Given the description of an element on the screen output the (x, y) to click on. 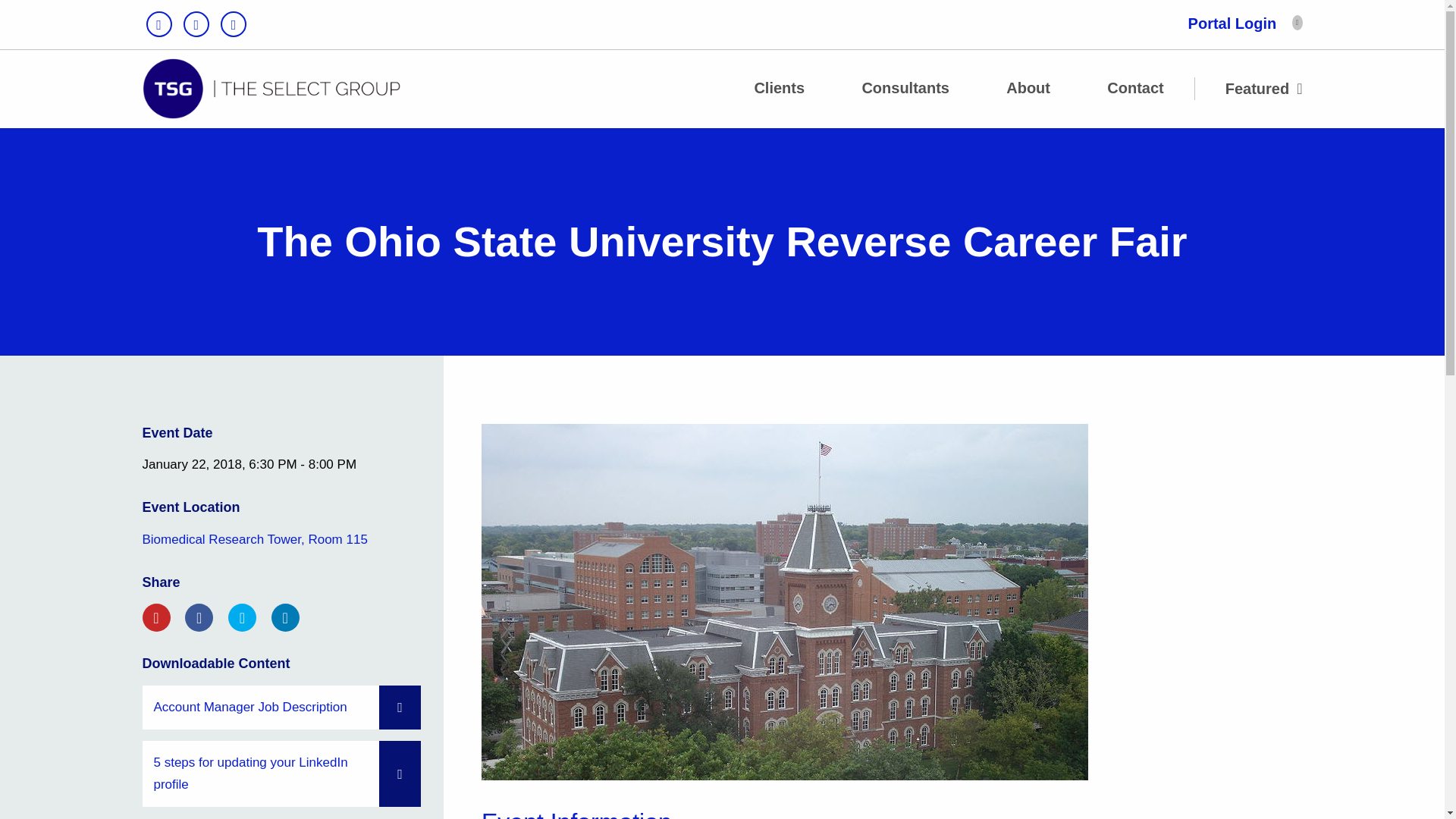
Featured (1264, 88)
Portal Login (1232, 23)
The Select Group (271, 88)
5 steps for updating your LinkedIn profile (282, 773)
Account Manager Job Description (282, 707)
Consultants (905, 88)
Biomedical Research Tower, Room 115 (255, 539)
